Given the description of an element on the screen output the (x, y) to click on. 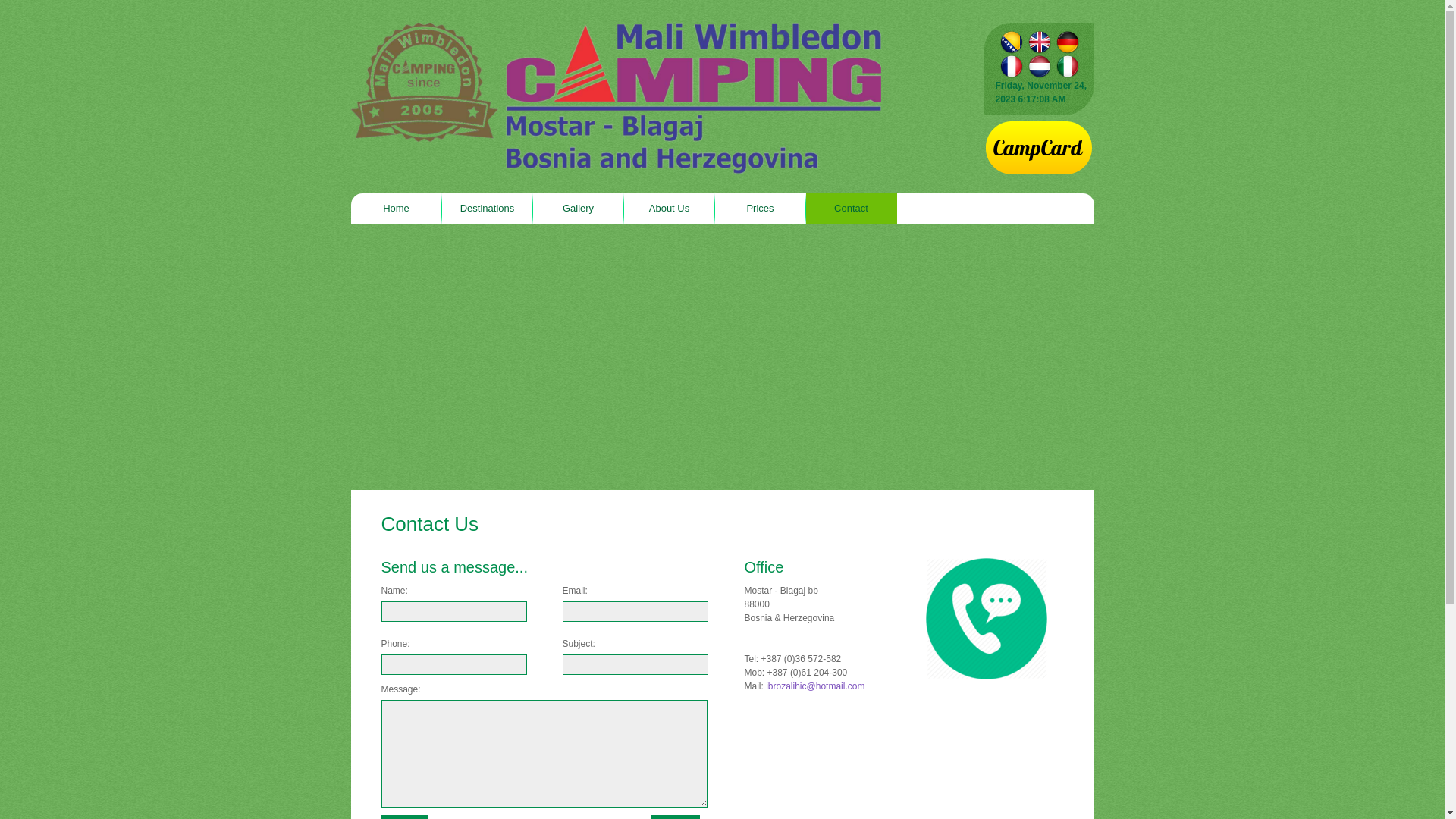
Prices Element type: text (759, 208)
Only numbers (0-9) and symbols (-+/) are allowed. Element type: hover (453, 664)
Only letters (A-z) are allowed. Element type: hover (453, 611)
Destinations Element type: text (486, 208)
Home Element type: text (395, 208)
Mali Wimbledon Element type: text (615, 98)
Deutsch Element type: hover (1067, 42)
French Element type: hover (1011, 66)
ibrozalihic@hotmail.com Element type: text (814, 685)
Nederlands Element type: hover (1038, 66)
Bosanski Element type: hover (1011, 42)
About Us Element type: text (668, 208)
Italian Element type: hover (1067, 66)
Please enter a valid email address: email@example.com Element type: hover (635, 611)
English Element type: hover (1038, 42)
Contact Element type: text (850, 208)
Gallery Element type: text (577, 208)
